Given the description of an element on the screen output the (x, y) to click on. 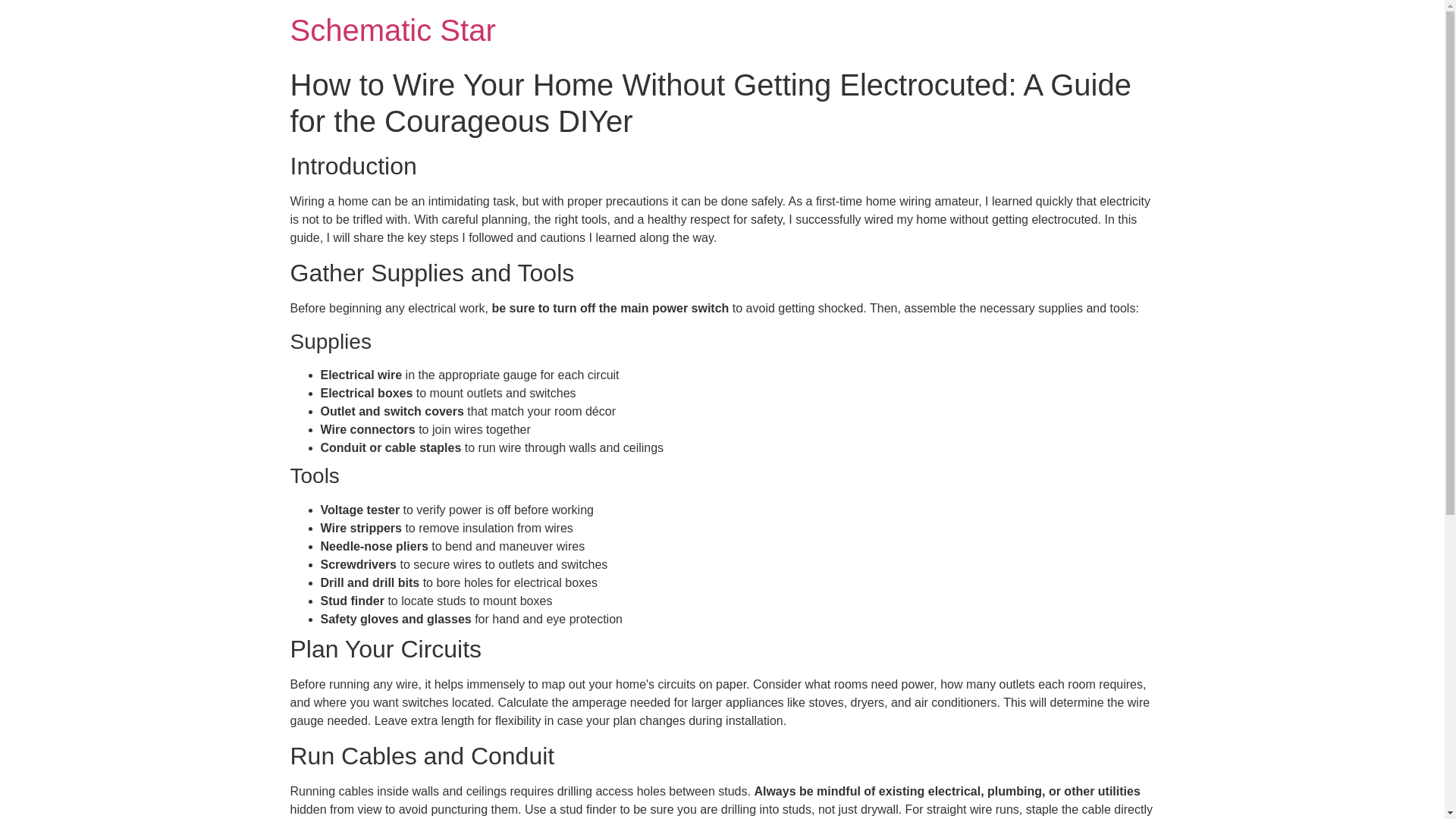
Schematic Star (392, 29)
Home (392, 29)
